Given the description of an element on the screen output the (x, y) to click on. 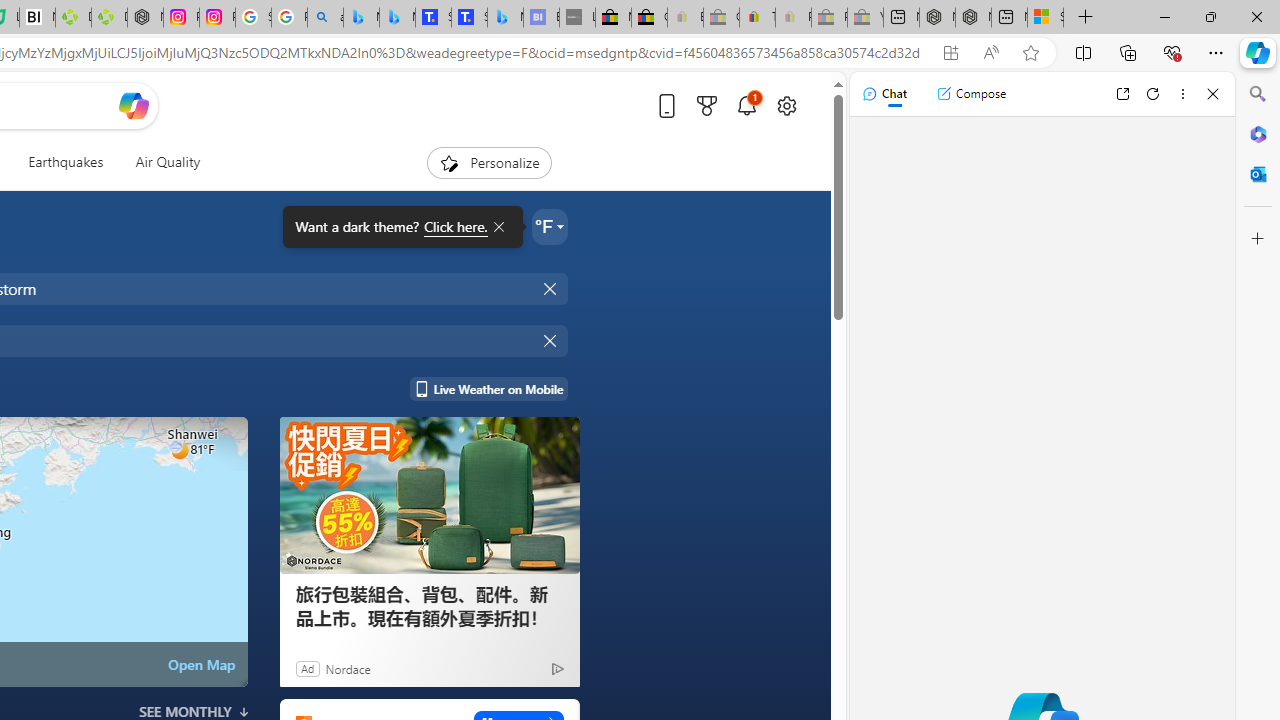
Nvidia va a poner a prueba la paciencia de los inversores (37, 17)
Earthquakes (65, 162)
Class: BubbleMessageCloseIcon-DS-EntryPoint1-1 (497, 227)
